Given the description of an element on the screen output the (x, y) to click on. 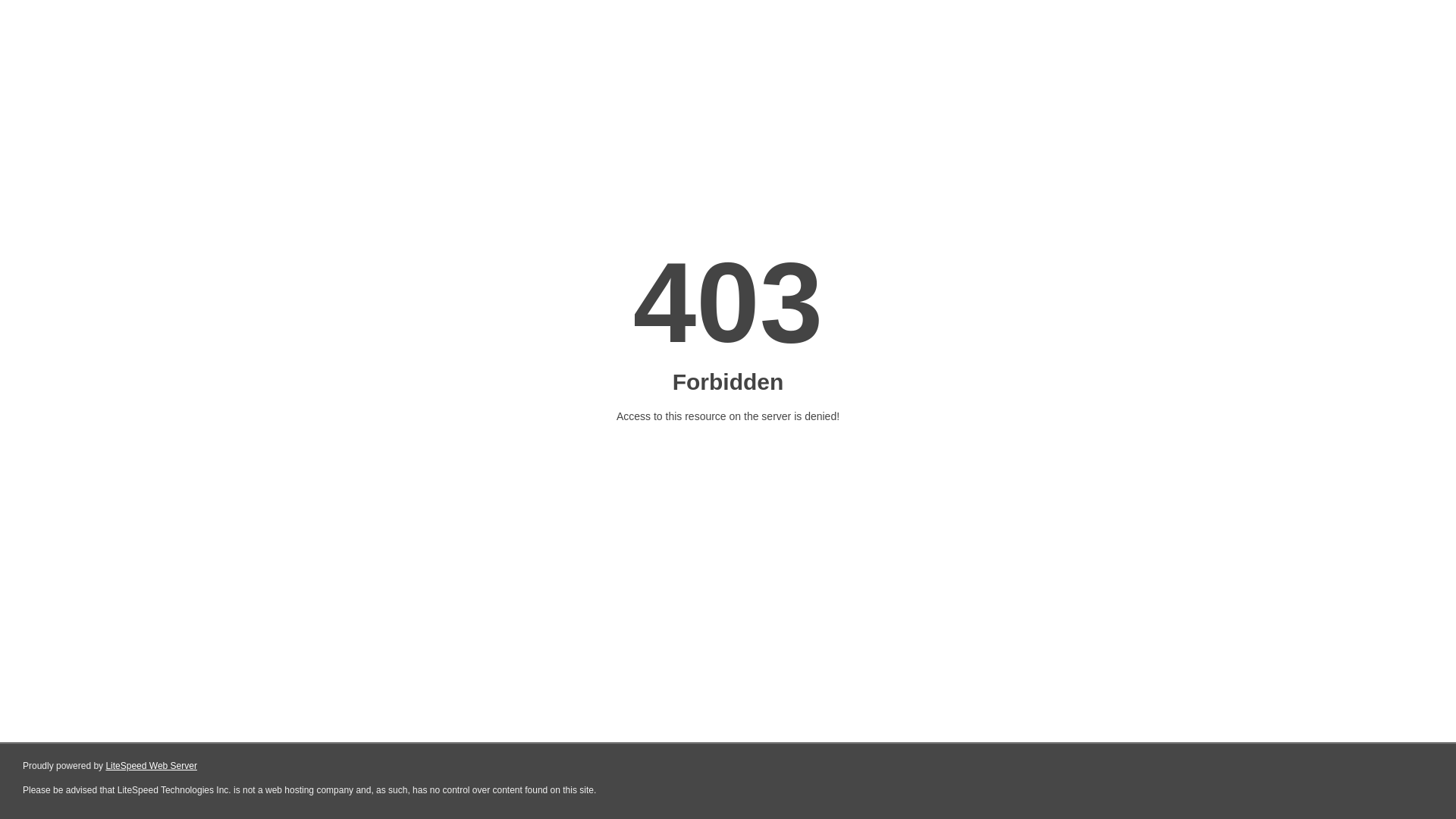
LiteSpeed Web Server Element type: text (151, 765)
